Given the description of an element on the screen output the (x, y) to click on. 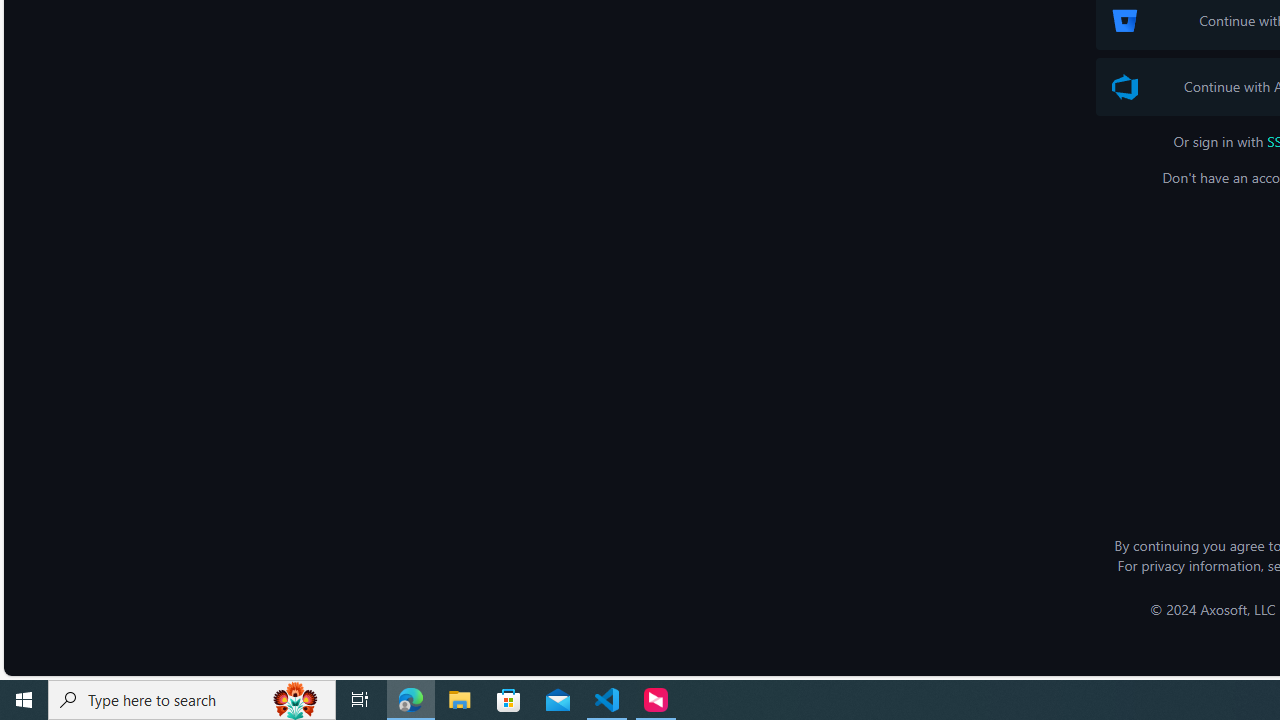
Task View (359, 699)
Start (24, 699)
Microsoft Store (509, 699)
Microsoft Edge - 1 running window (411, 699)
Visual Studio Code - 1 running window (607, 699)
Search highlights icon opens search home window (295, 699)
Azure DevOps Logo (1124, 87)
Type here to search (191, 699)
File Explorer (460, 699)
Bitbucket Logo (1124, 20)
